Given the description of an element on the screen output the (x, y) to click on. 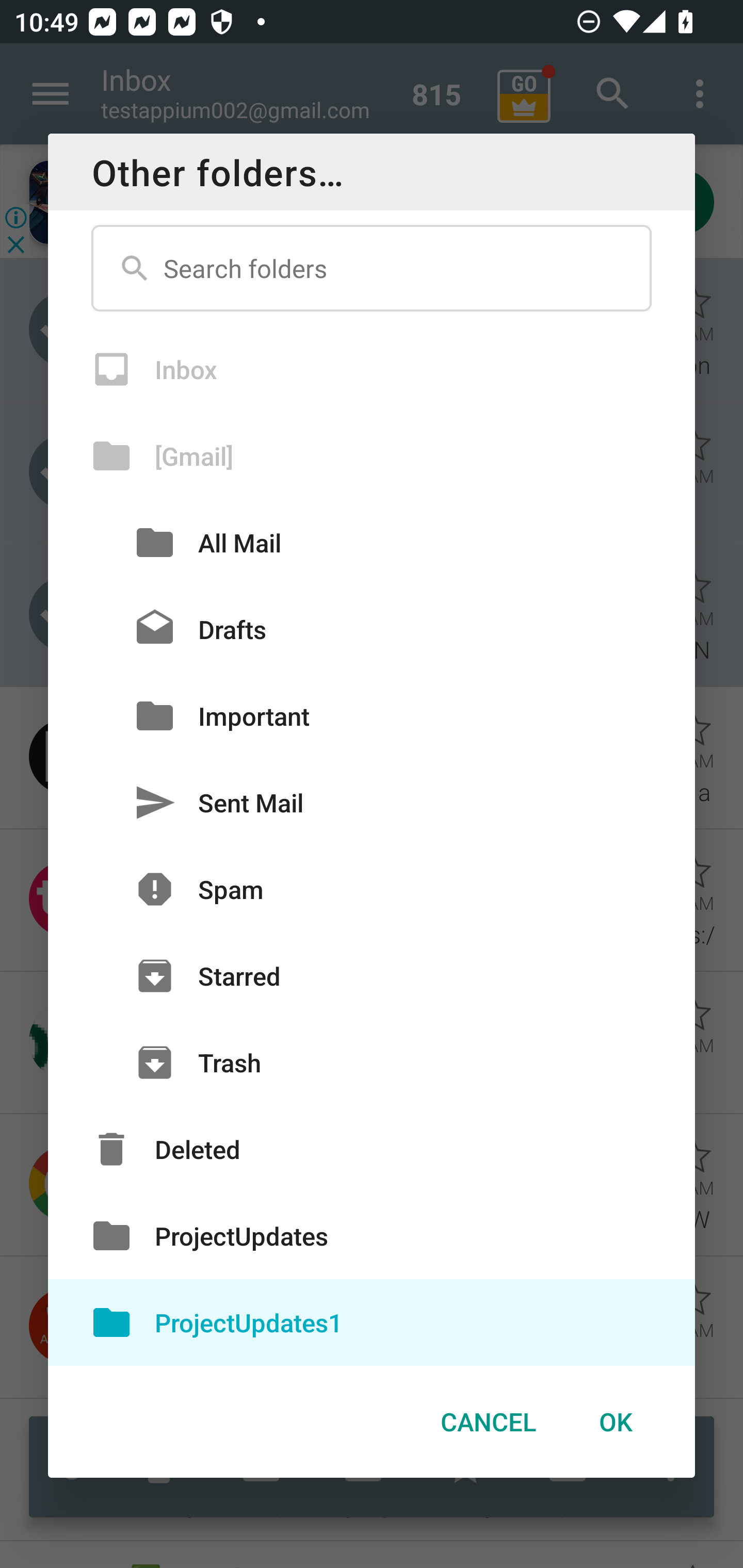
All Mail (371, 542)
Drafts (371, 629)
Important (371, 715)
Sent Mail (371, 801)
Spam (371, 888)
Starred (371, 975)
Trash (371, 1062)
Deleted (371, 1149)
ProjectUpdates (371, 1236)
ProjectUpdates1 (371, 1322)
CANCEL (488, 1421)
OK (615, 1421)
